Given the description of an element on the screen output the (x, y) to click on. 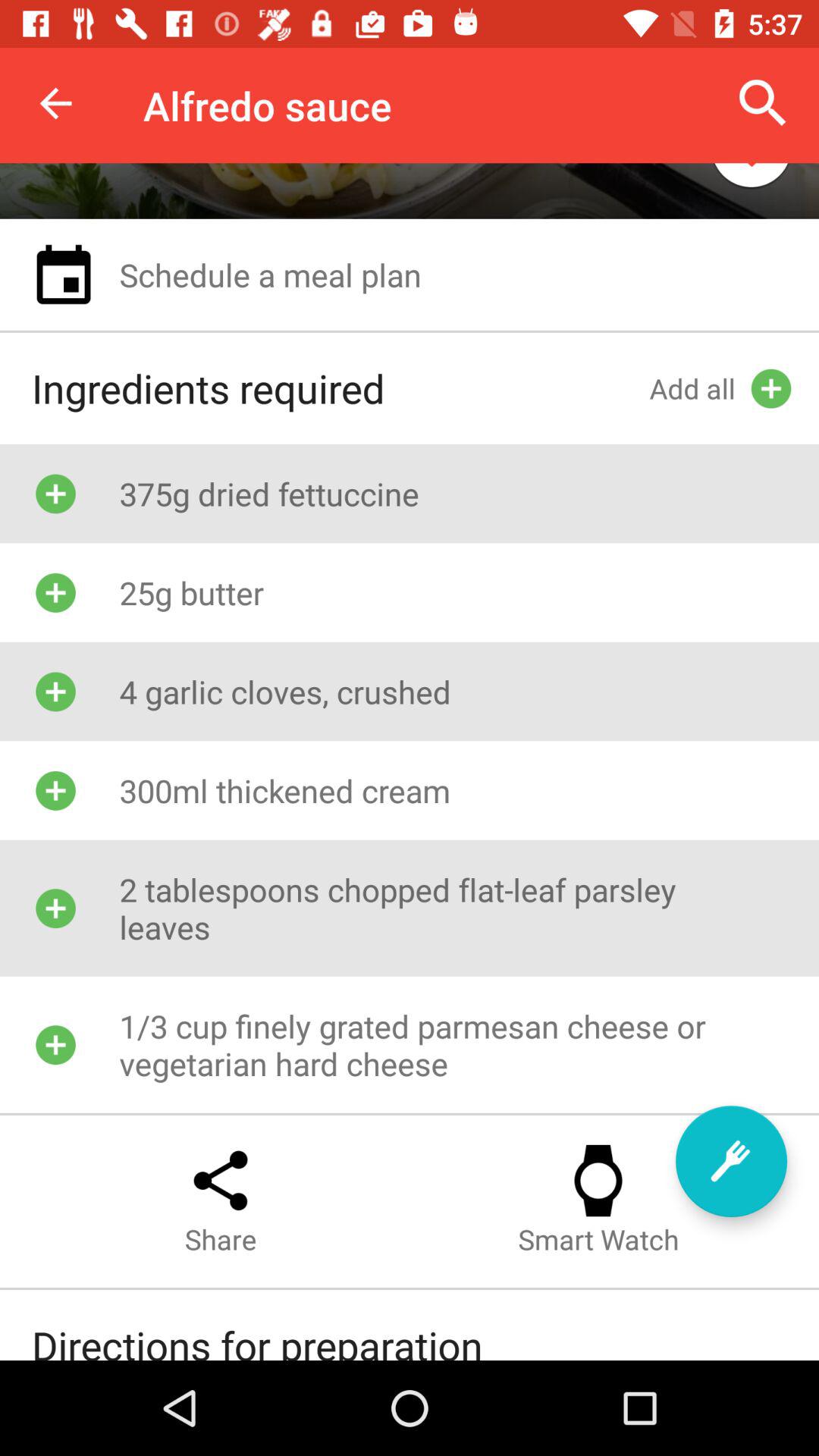
tap icon above the smart watch icon (731, 1161)
